Given the description of an element on the screen output the (x, y) to click on. 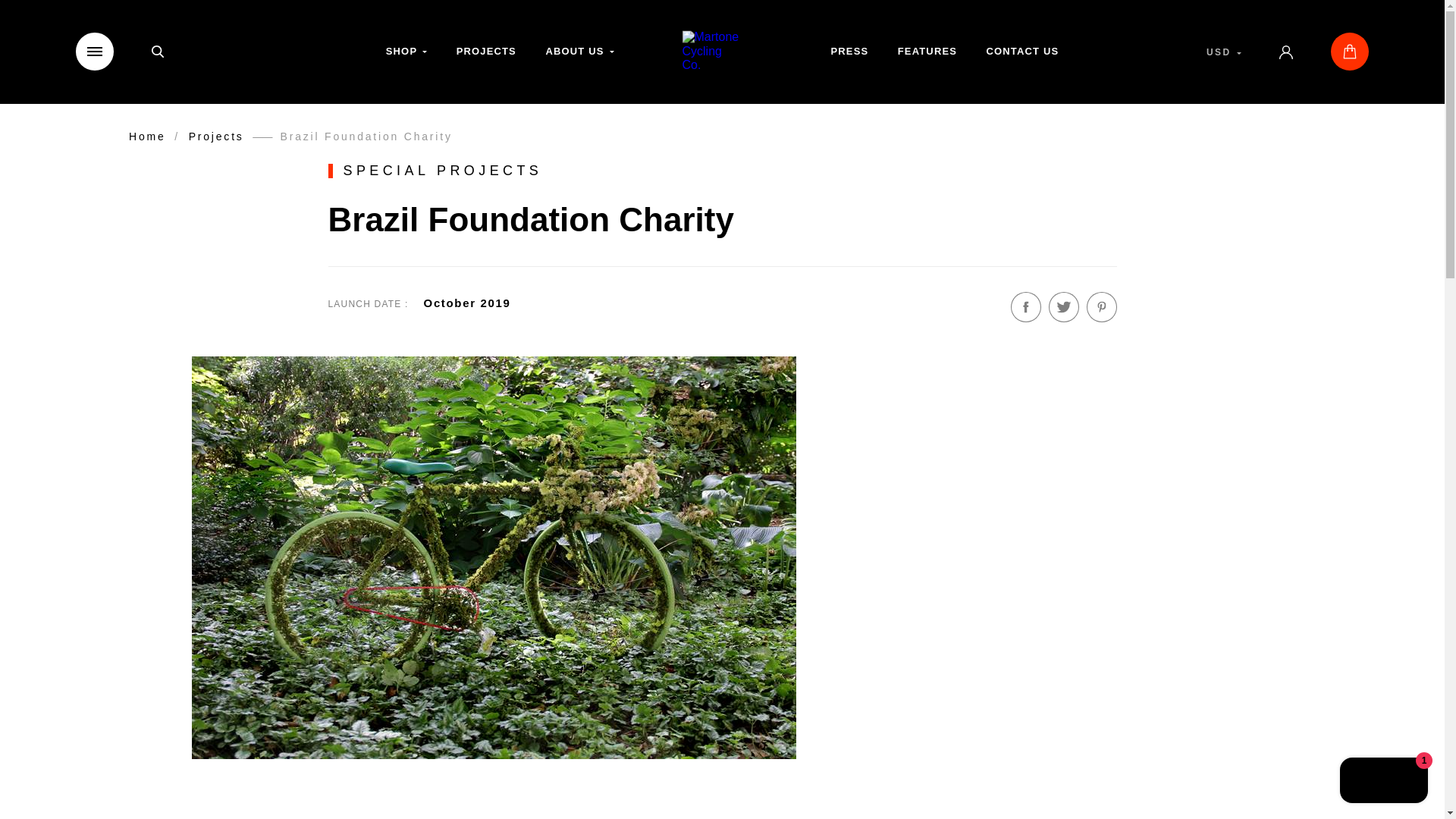
Home (147, 136)
Shopify online store chat (1383, 781)
